Given the description of an element on the screen output the (x, y) to click on. 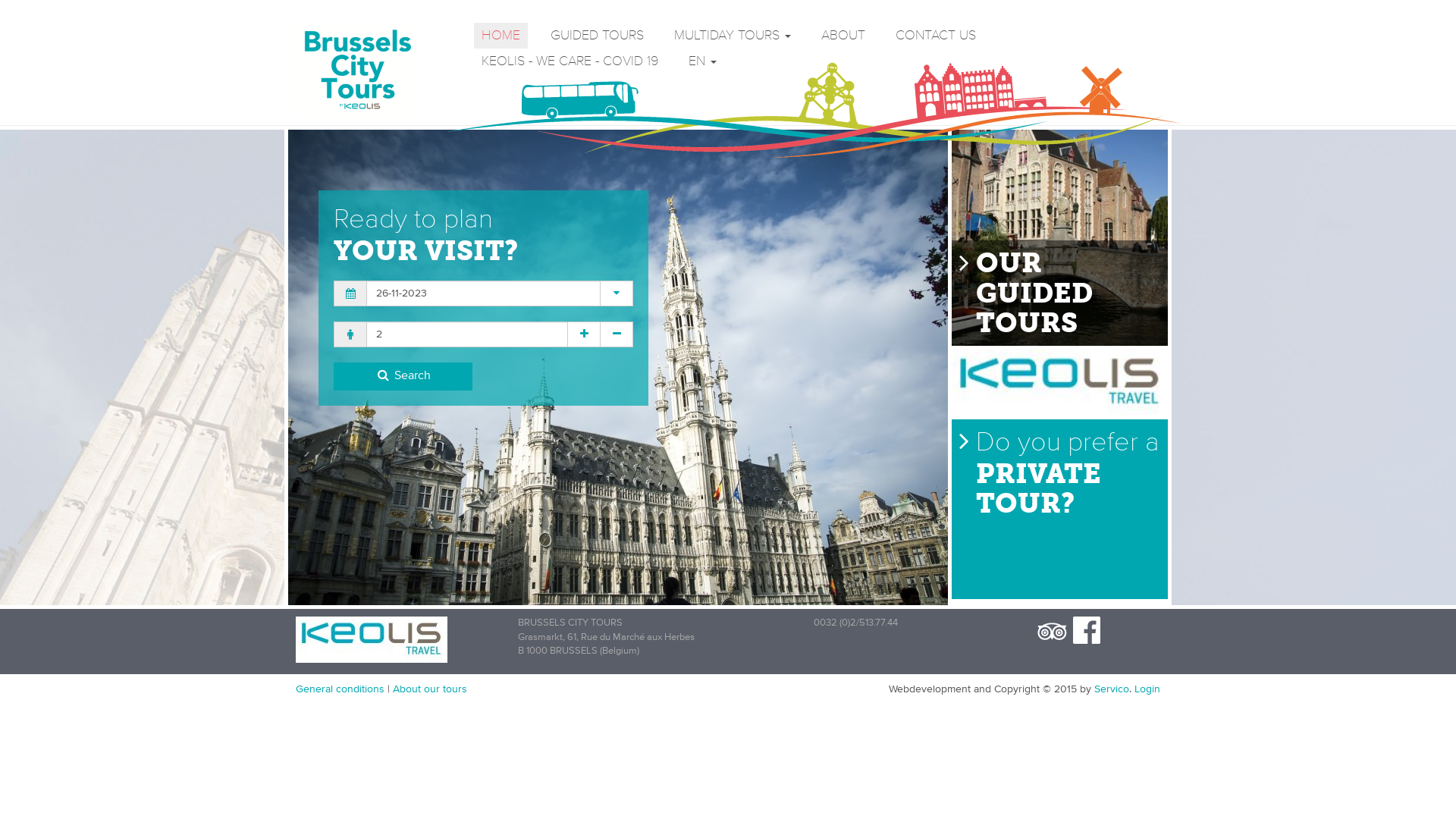
ABOUT Element type: text (842, 35)
GUIDED TOURS Element type: text (596, 35)
Servico Element type: text (1111, 689)
General conditions Element type: text (339, 689)
CONTACT US Element type: text (935, 35)
HOME Element type: text (500, 35)
Do you prefer a
PRIVATE TOUR? Element type: text (1057, 509)
OUR GUIDED TOURS Element type: text (1057, 237)
Search Element type: text (402, 376)
MULTIDAY TOURS Element type: text (732, 35)
Login Element type: text (1147, 689)
KEOLIS - WE CARE - COVID 19 Element type: text (569, 61)
About our tours Element type: text (429, 689)
EN Element type: text (702, 61)
